Given the description of an element on the screen output the (x, y) to click on. 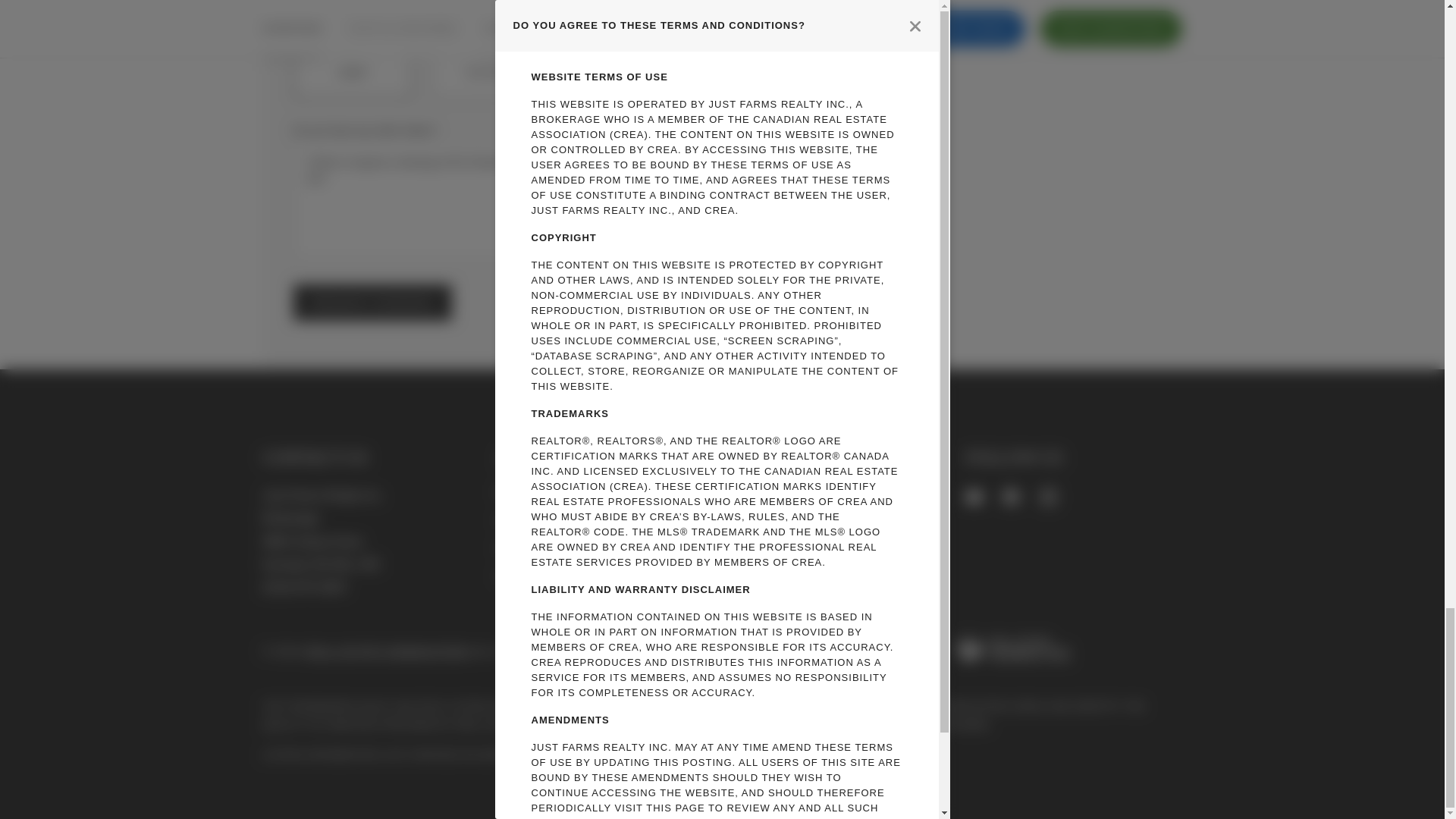
ASAP (352, 61)
REQUEST SHOWING (371, 302)
YOUTUBE (973, 496)
Next Week (627, 61)
FACEBOOK (1011, 496)
This Week (490, 61)
